Given the description of an element on the screen output the (x, y) to click on. 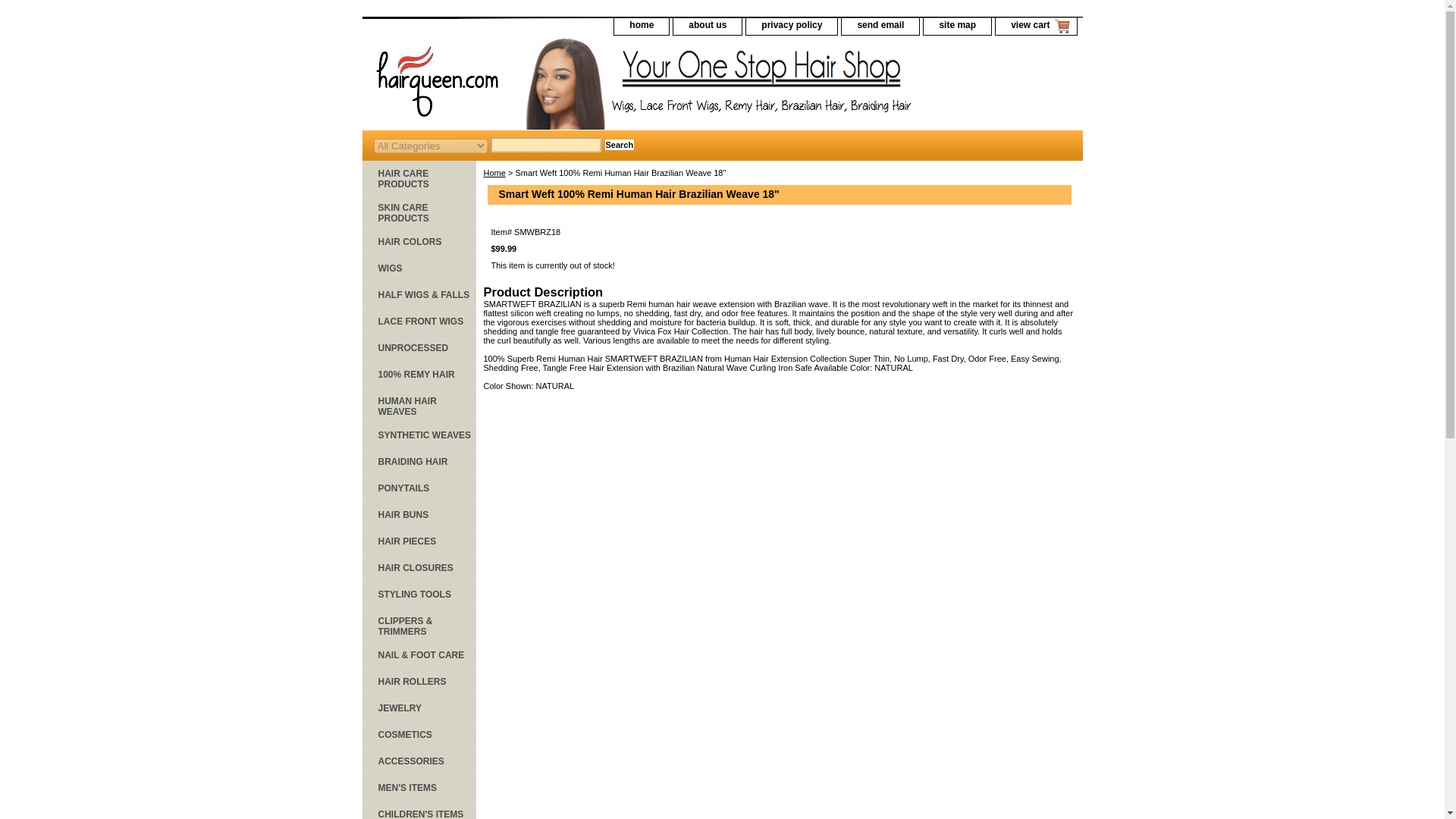
HAIR PIECES (419, 541)
HAIR COLORS (419, 242)
home (641, 25)
HAIR BUNS (419, 515)
HAIR CARE PRODUCTS (419, 177)
HAIR COLORS (419, 242)
UNPROCESSED (419, 347)
CHILDREN'S ITEMS (419, 810)
site map (957, 25)
BRAIDING HAIR (419, 461)
HUMAN HAIR WEAVES (419, 405)
PONYTAILS (419, 488)
MEN'S ITEMS (419, 787)
PONYTAILS (419, 488)
WIGS (419, 268)
